Given the description of an element on the screen output the (x, y) to click on. 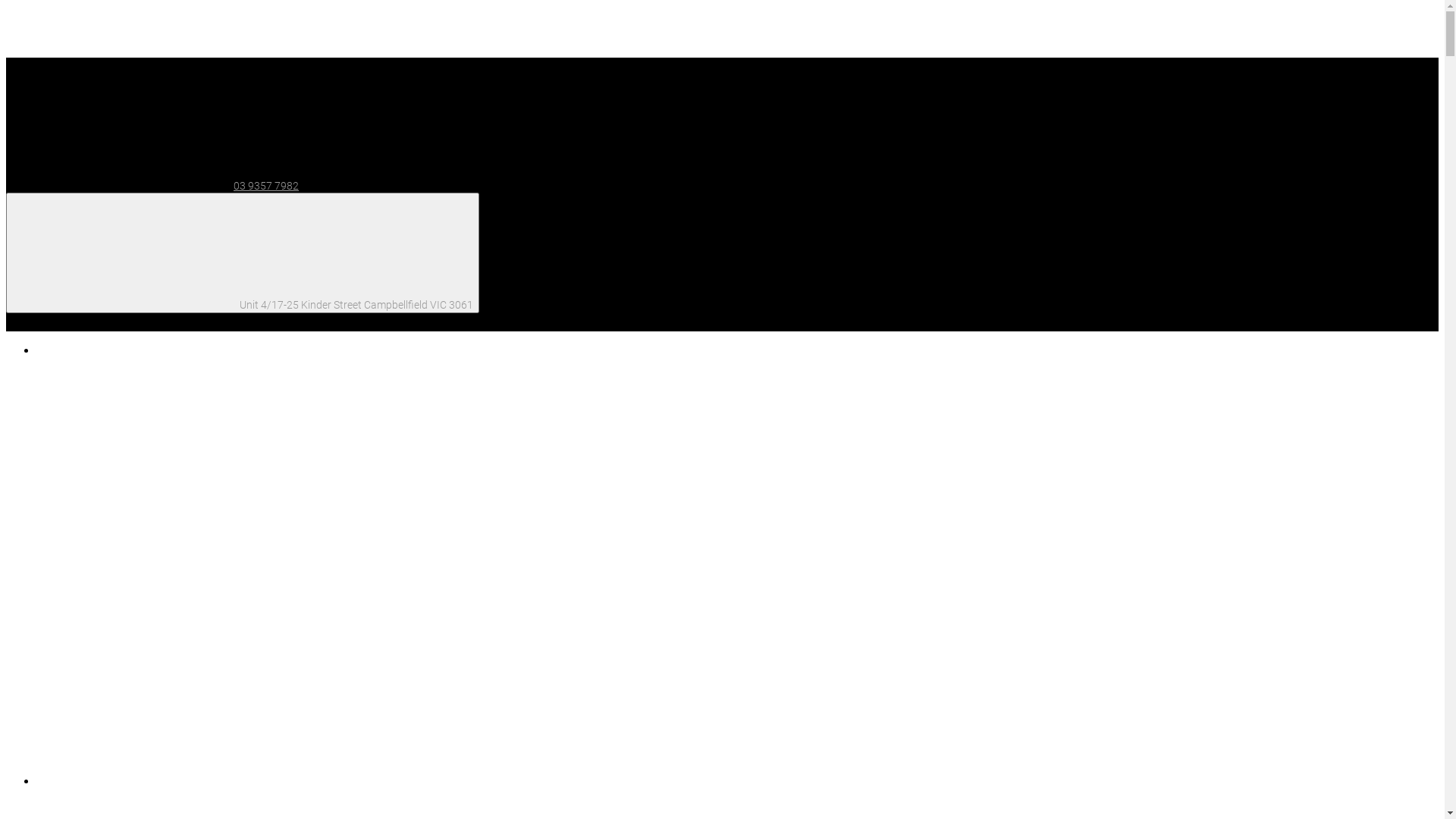
Unit 4/17-25 Kinder Street Campbellfield VIC 3061 Element type: text (242, 252)
03 9357 7982 Element type: text (152, 185)
